Given the description of an element on the screen output the (x, y) to click on. 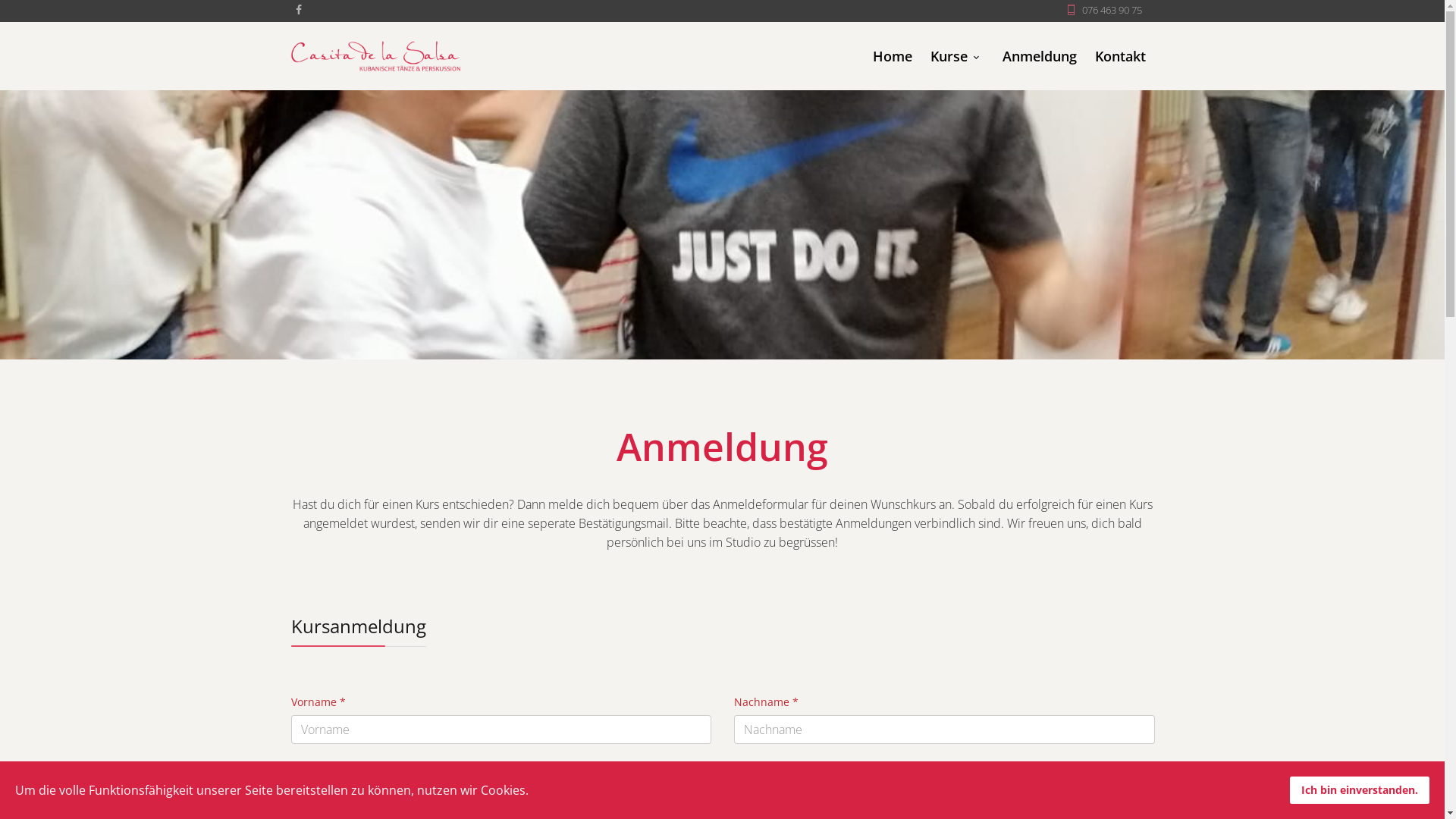
Kontakt Element type: text (1119, 55)
Home Element type: text (891, 55)
Ich bin einverstanden. Element type: text (1359, 789)
Kurse Element type: text (956, 55)
076 463 90 75 Element type: text (1111, 9)
Anmeldung Element type: text (1039, 55)
